Given the description of an element on the screen output the (x, y) to click on. 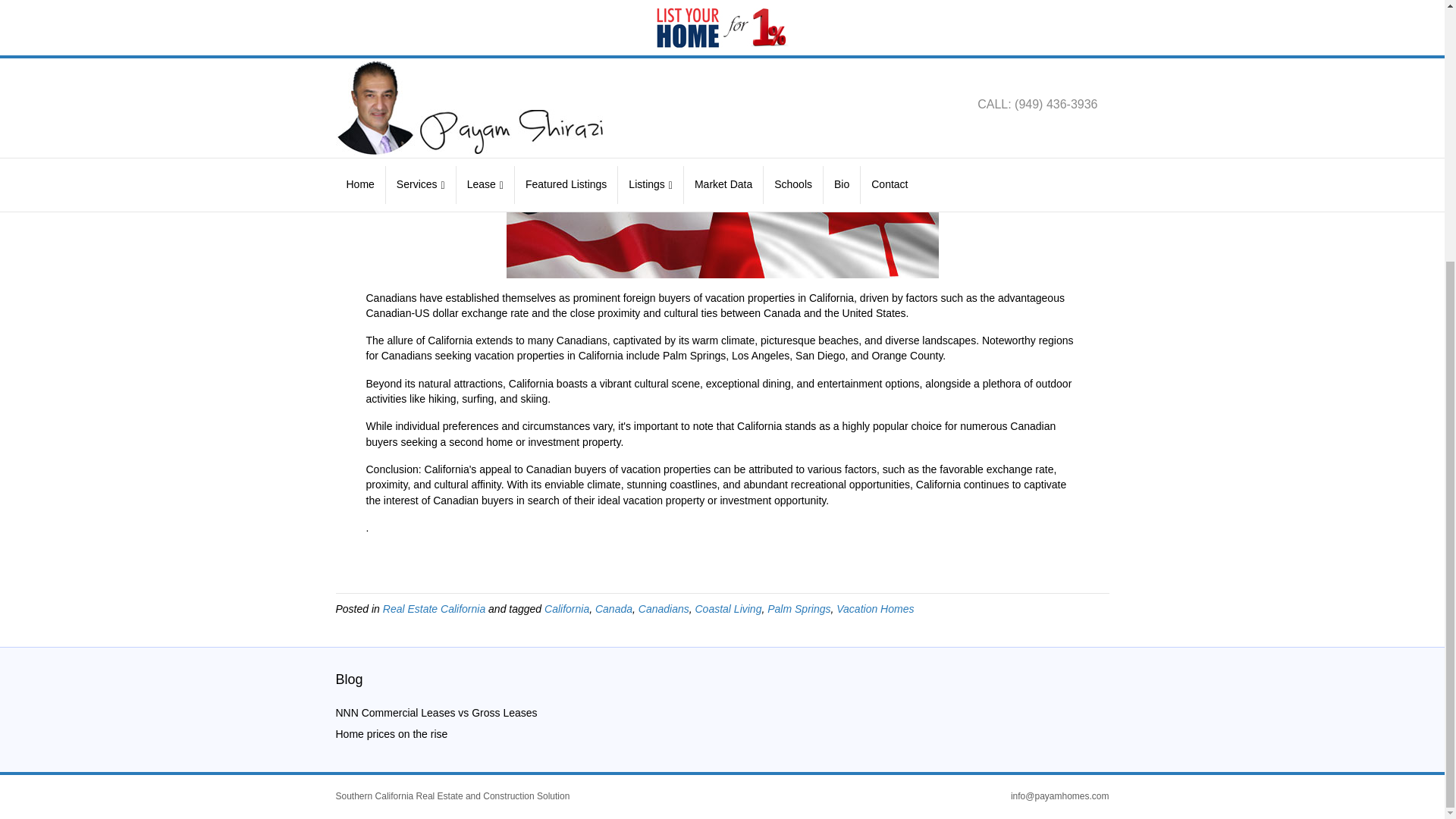
Coastal Living (727, 608)
NNN Commercial Leases vs Gross Leases (435, 712)
California (566, 608)
Palm Springs (798, 608)
Real Estate California (433, 608)
Vacation Homes (874, 608)
Home prices on the rise (390, 734)
Canadians (663, 608)
Canada (613, 608)
